Given the description of an element on the screen output the (x, y) to click on. 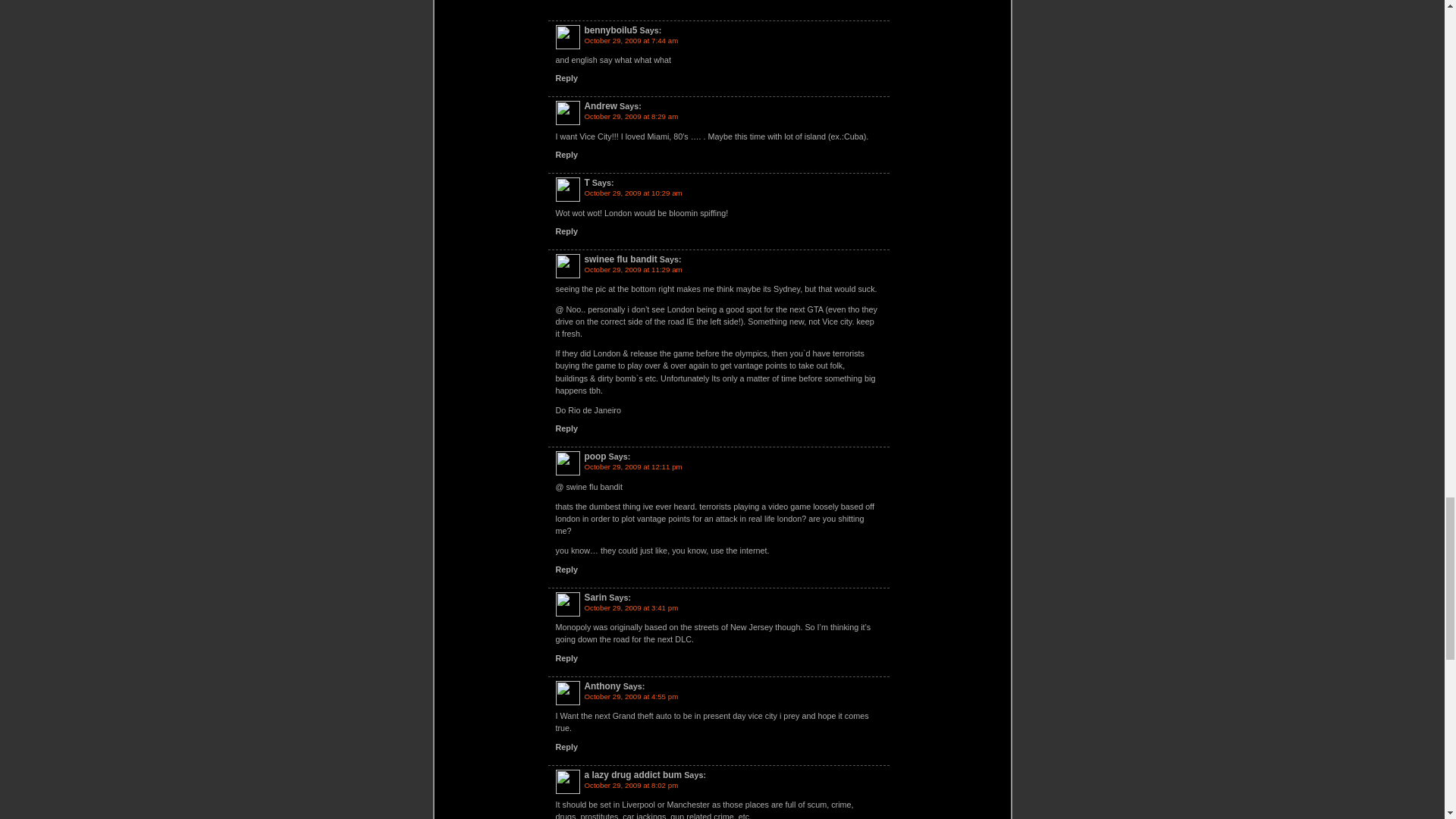
October 29, 2009 at 10:29 am (632, 193)
October 29, 2009 at 11:29 am (632, 269)
October 29, 2009 at 8:02 pm (630, 785)
October 29, 2009 at 12:11 pm (632, 466)
October 29, 2009 at 8:29 am (630, 116)
October 29, 2009 at 7:44 am (630, 40)
October 29, 2009 at 4:55 pm (630, 696)
October 29, 2009 at 3:41 pm (630, 607)
